Given the description of an element on the screen output the (x, y) to click on. 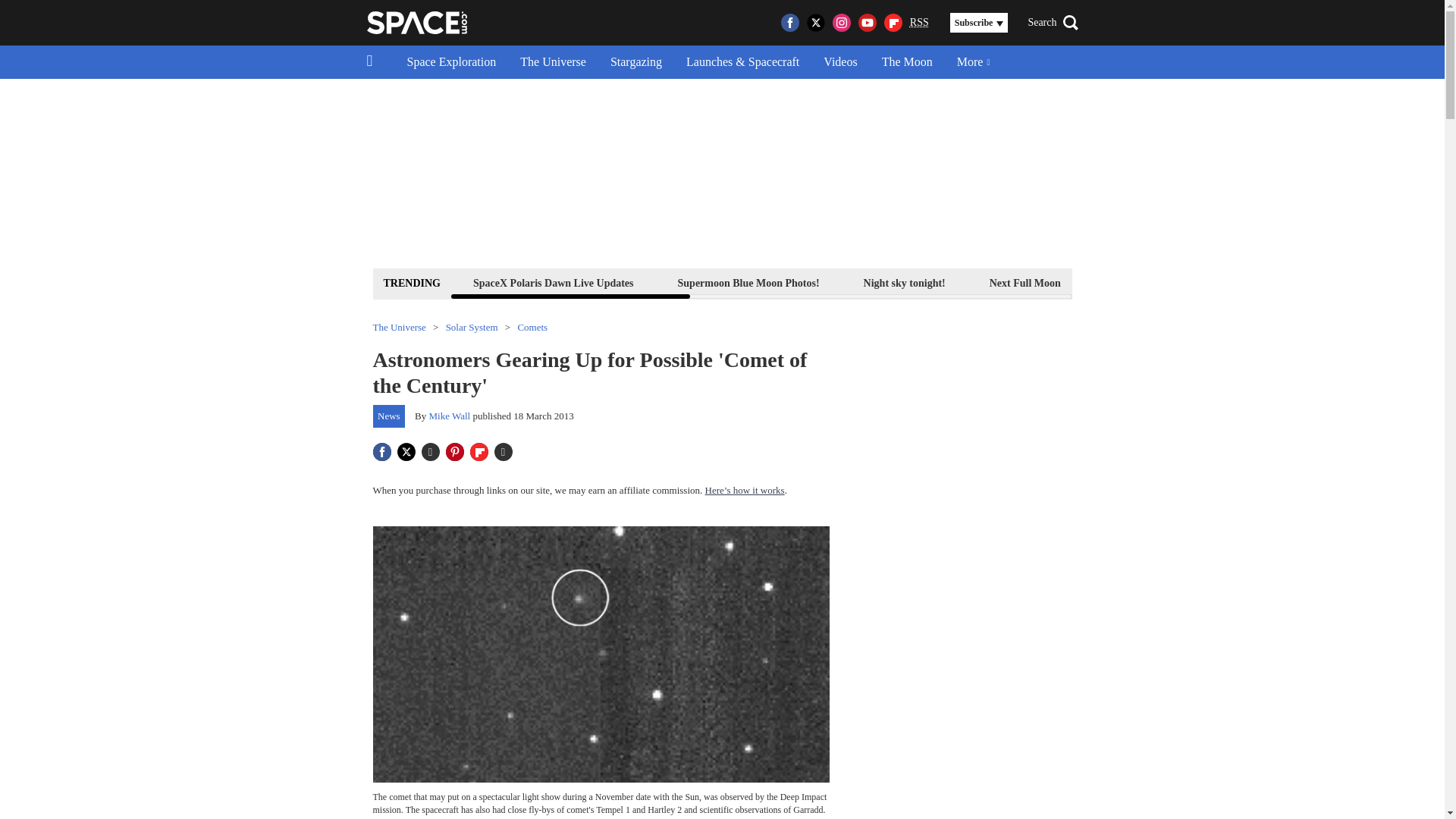
The Universe (553, 61)
The Moon (906, 61)
Best Binoculars (1253, 282)
Videos (839, 61)
Best Star Projectors (1378, 282)
Stargazing (636, 61)
Really Simple Syndication (919, 21)
Supermoon Blue Moon Photos! (748, 282)
Next Full Moon (1024, 282)
Space Exploration (451, 61)
